Given the description of an element on the screen output the (x, y) to click on. 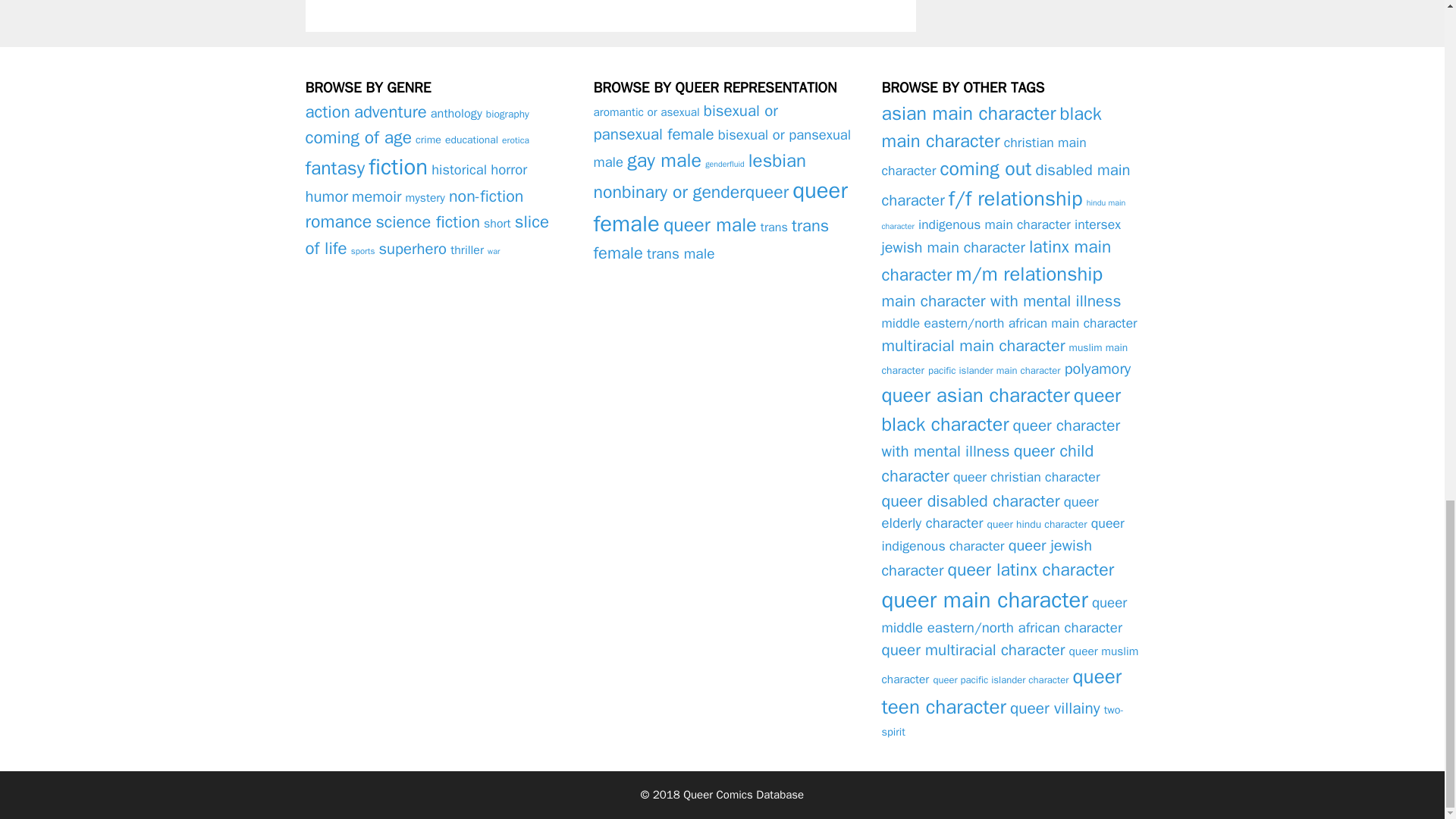
Scroll back to top (1406, 232)
adventure (389, 111)
action (326, 111)
